Given the description of an element on the screen output the (x, y) to click on. 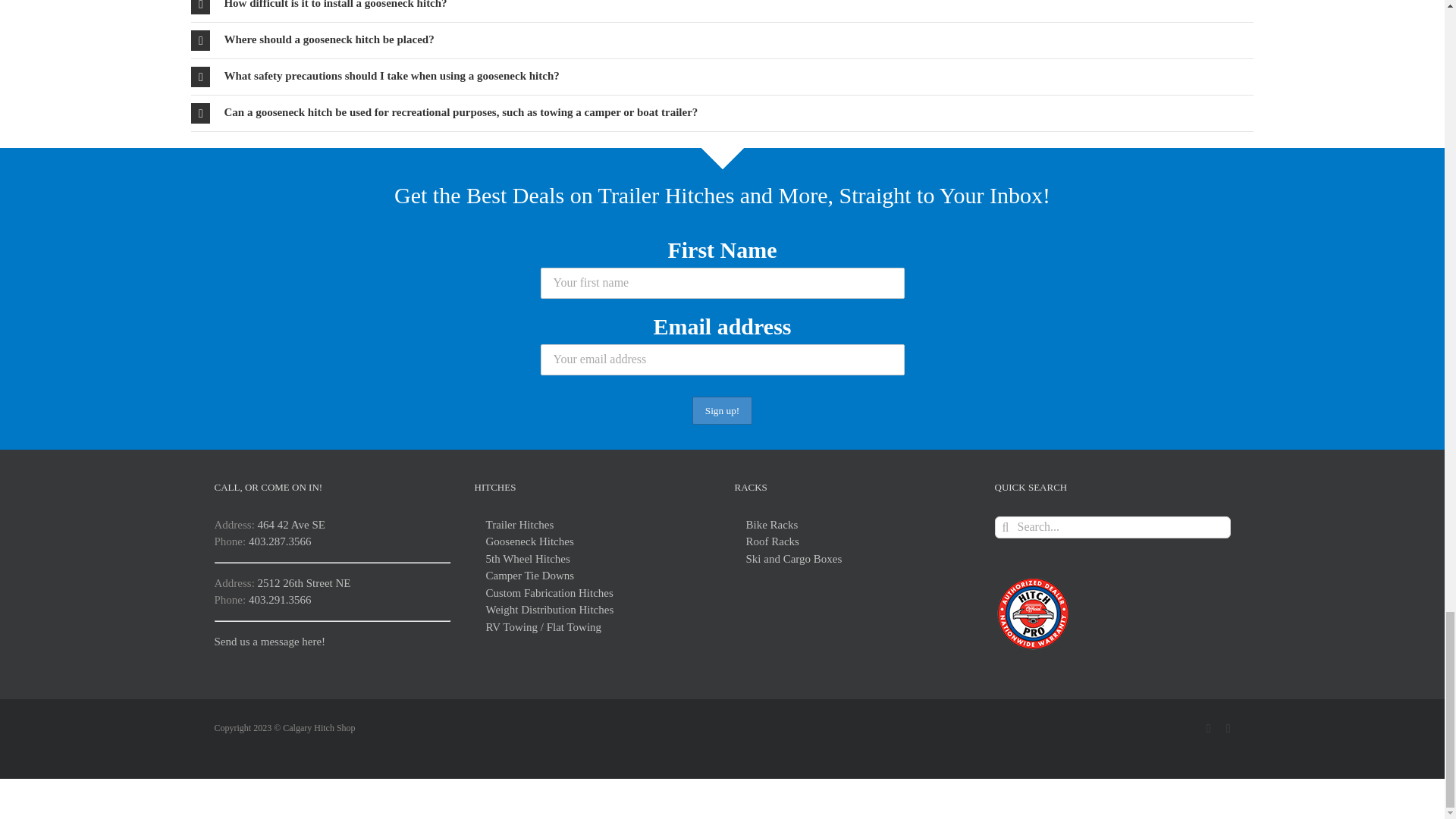
Sign up! (722, 410)
